Given the description of an element on the screen output the (x, y) to click on. 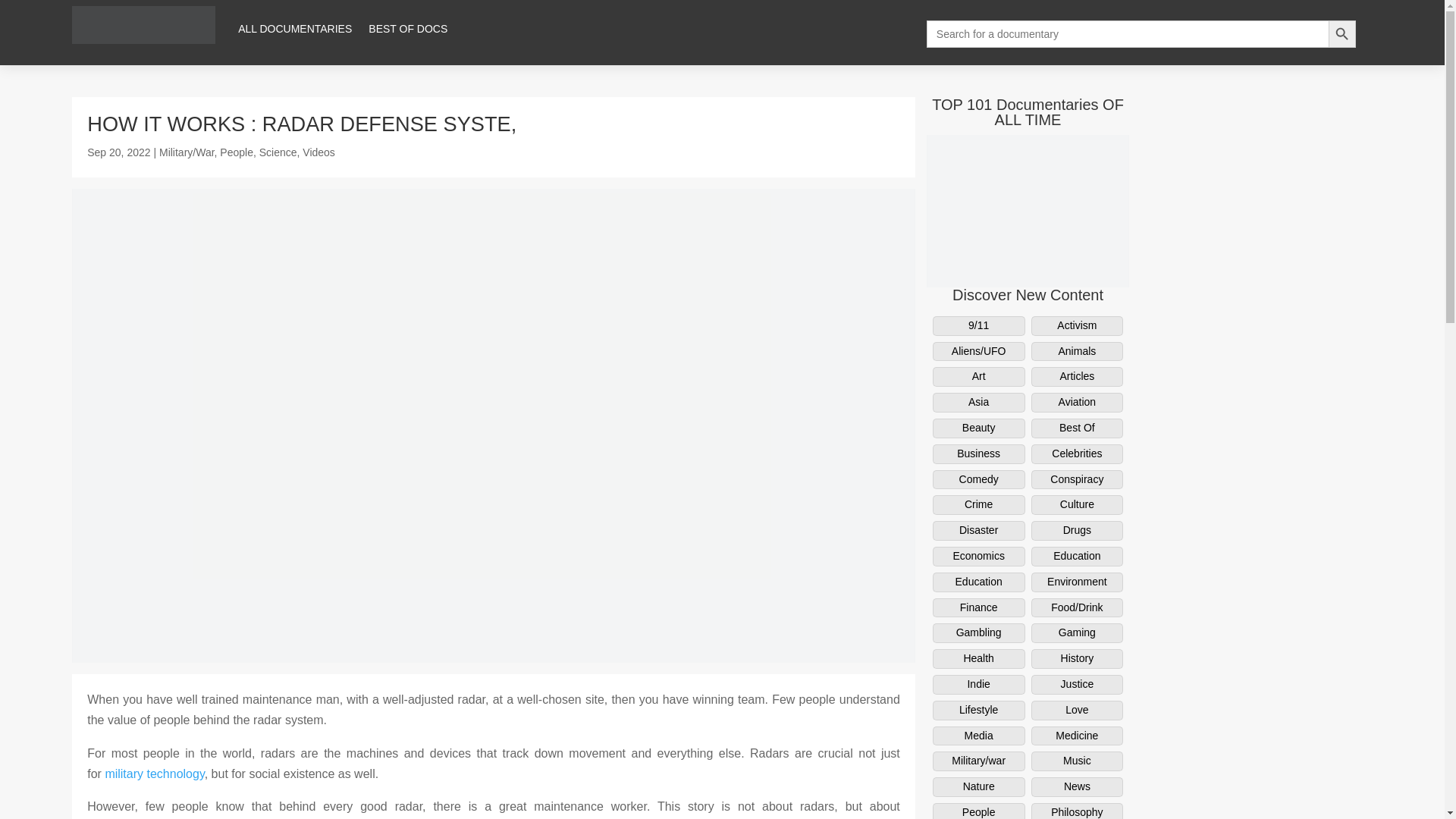
Beauty (979, 428)
TOP 101 Documentaries OF ALL TIME (1027, 111)
Best Of (1077, 428)
Comedy (979, 479)
Videos (318, 152)
Celebrities (1077, 454)
People (236, 152)
Culture (1077, 505)
Art (979, 376)
Conspiracy (1077, 479)
Aviation (1077, 402)
Animals (1077, 352)
Asia (979, 402)
BEST OF DOCS (407, 28)
ALL DOCUMENTARIES (295, 28)
